Given the description of an element on the screen output the (x, y) to click on. 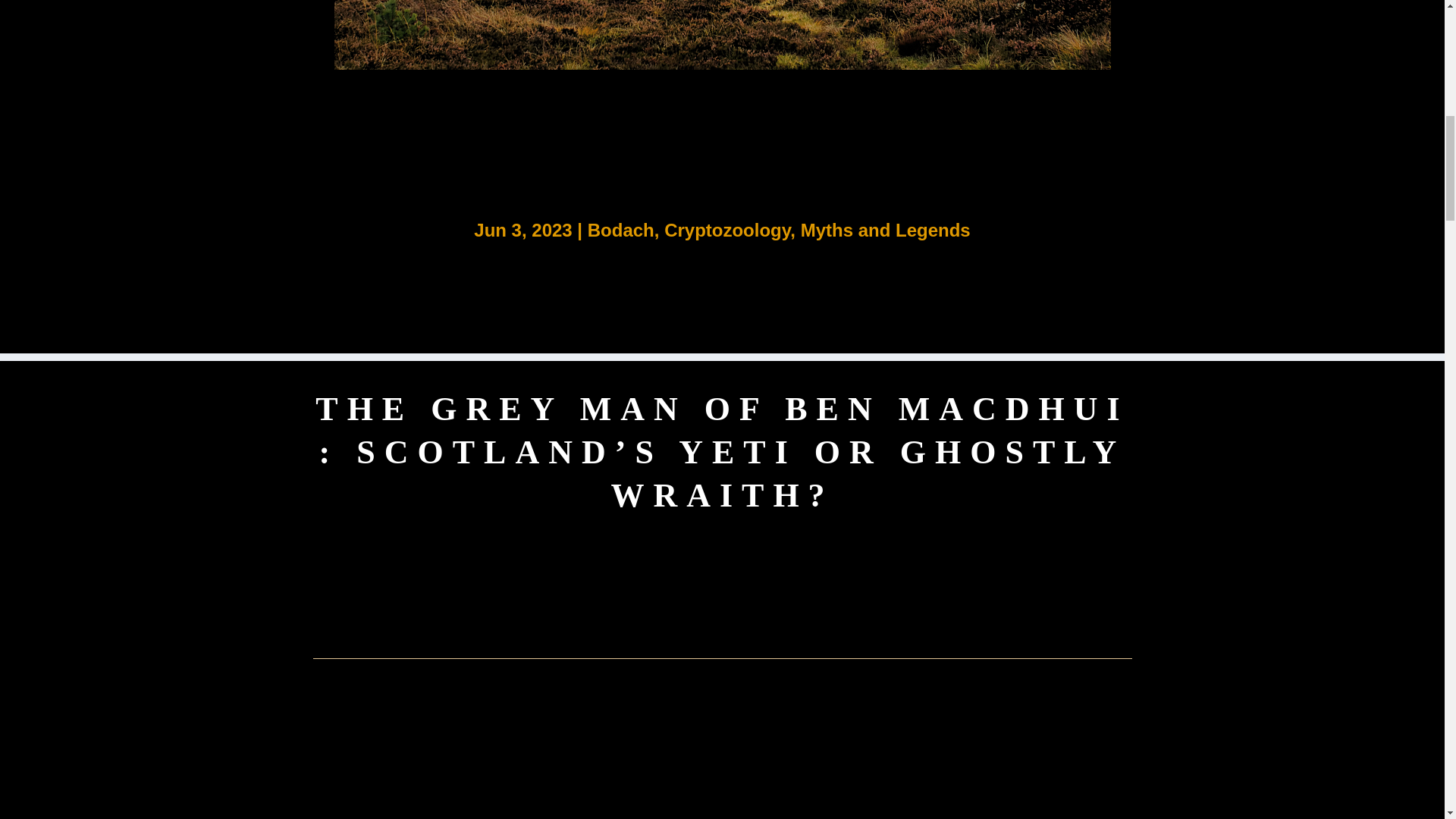
Myths and Legends (885, 230)
Bodach (620, 230)
Ben Macdhui (721, 34)
Cryptozoology (726, 230)
